Given the description of an element on the screen output the (x, y) to click on. 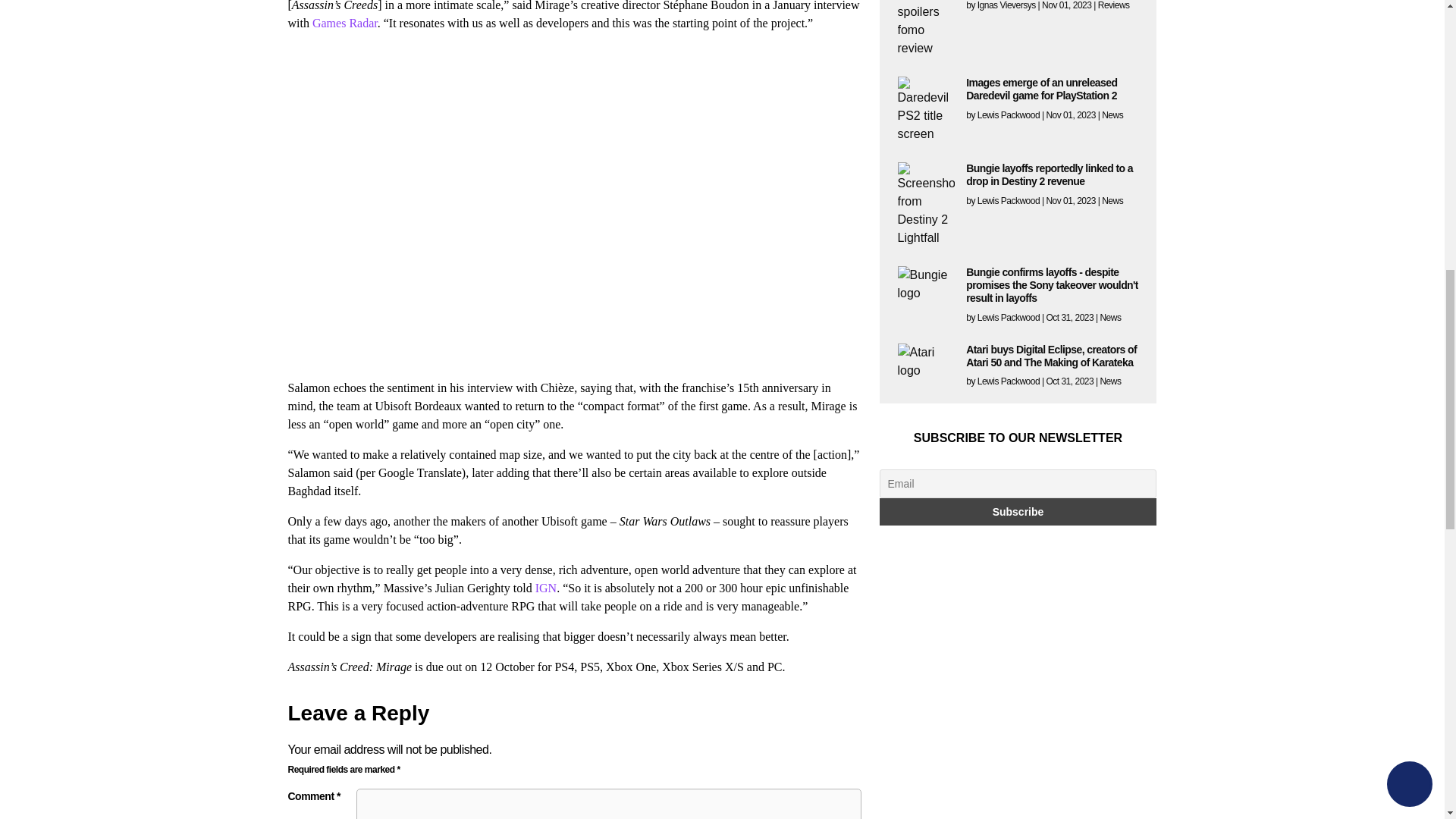
IGN (545, 587)
Subscribe (1018, 511)
Games Radar (345, 22)
